Given the description of an element on the screen output the (x, y) to click on. 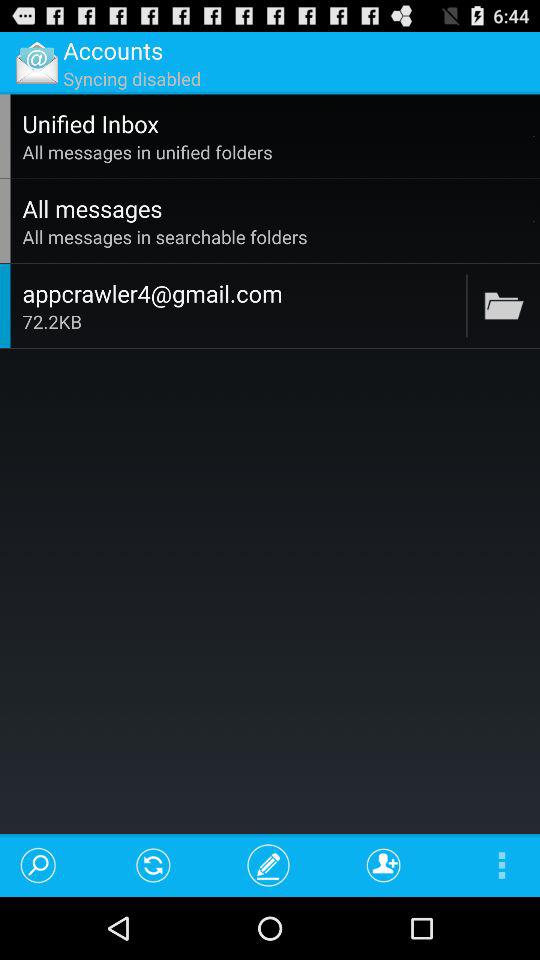
tap app below the all messages in item (466, 305)
